Given the description of an element on the screen output the (x, y) to click on. 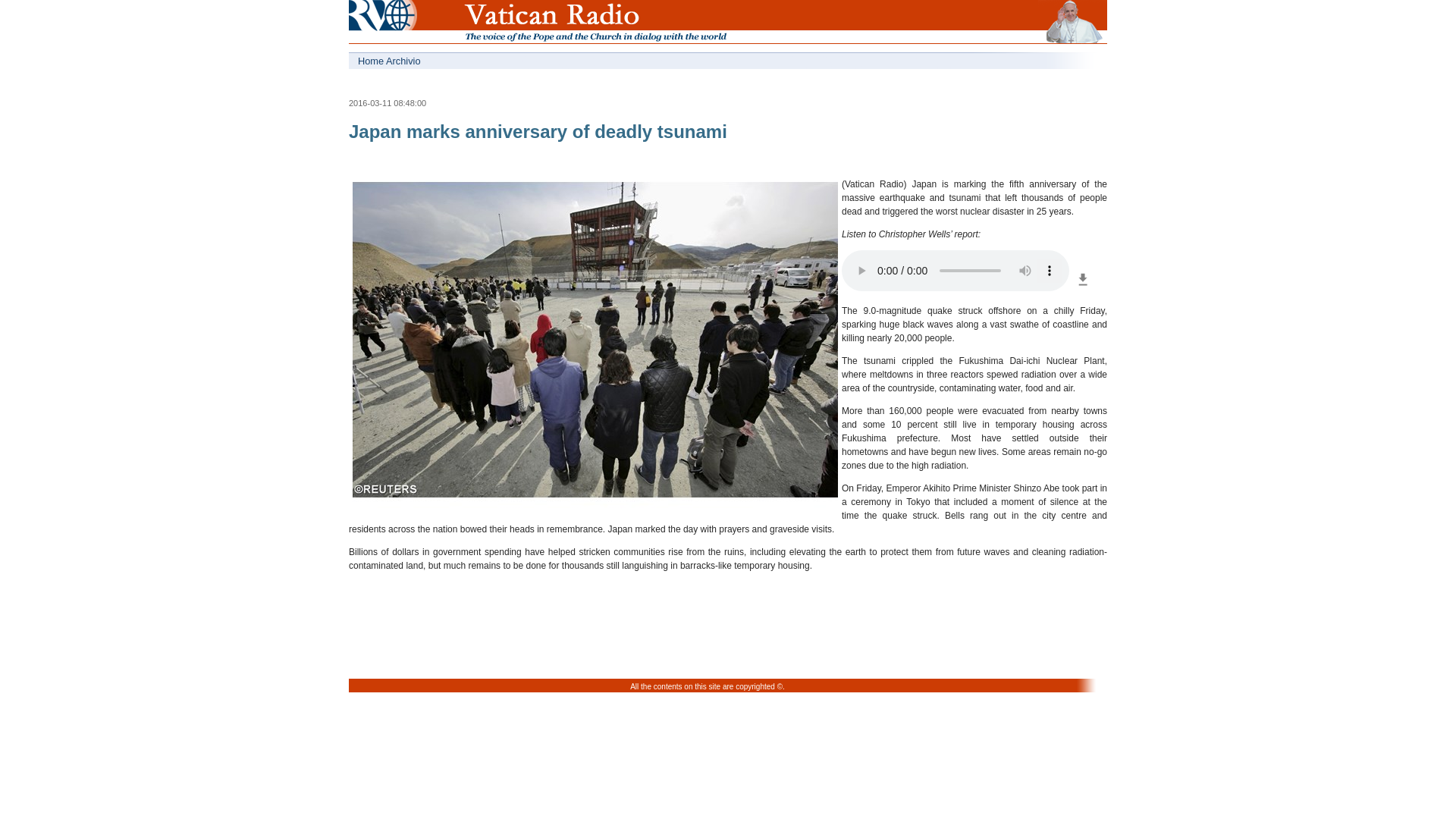
Home (377, 24)
Home Archivio (538, 60)
Download audio (1082, 287)
